Given the description of an element on the screen output the (x, y) to click on. 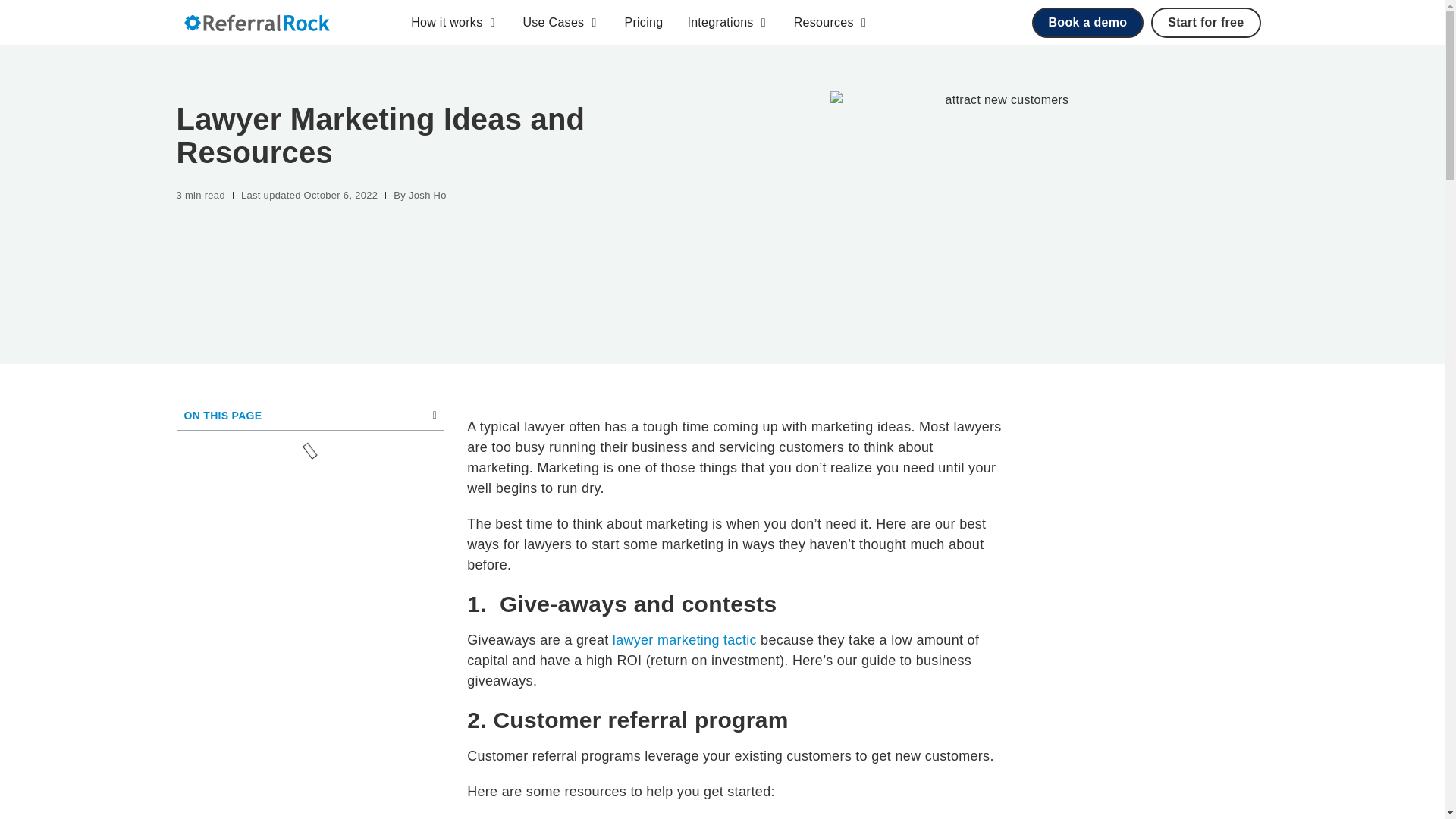
lawyer marketing tactic (684, 639)
Pricing (643, 22)
attract new customers (1000, 204)
How it works (445, 22)
Integrations (719, 22)
Book a demo (1086, 22)
By Josh Ho (419, 195)
Start for free (1205, 22)
